Given the description of an element on the screen output the (x, y) to click on. 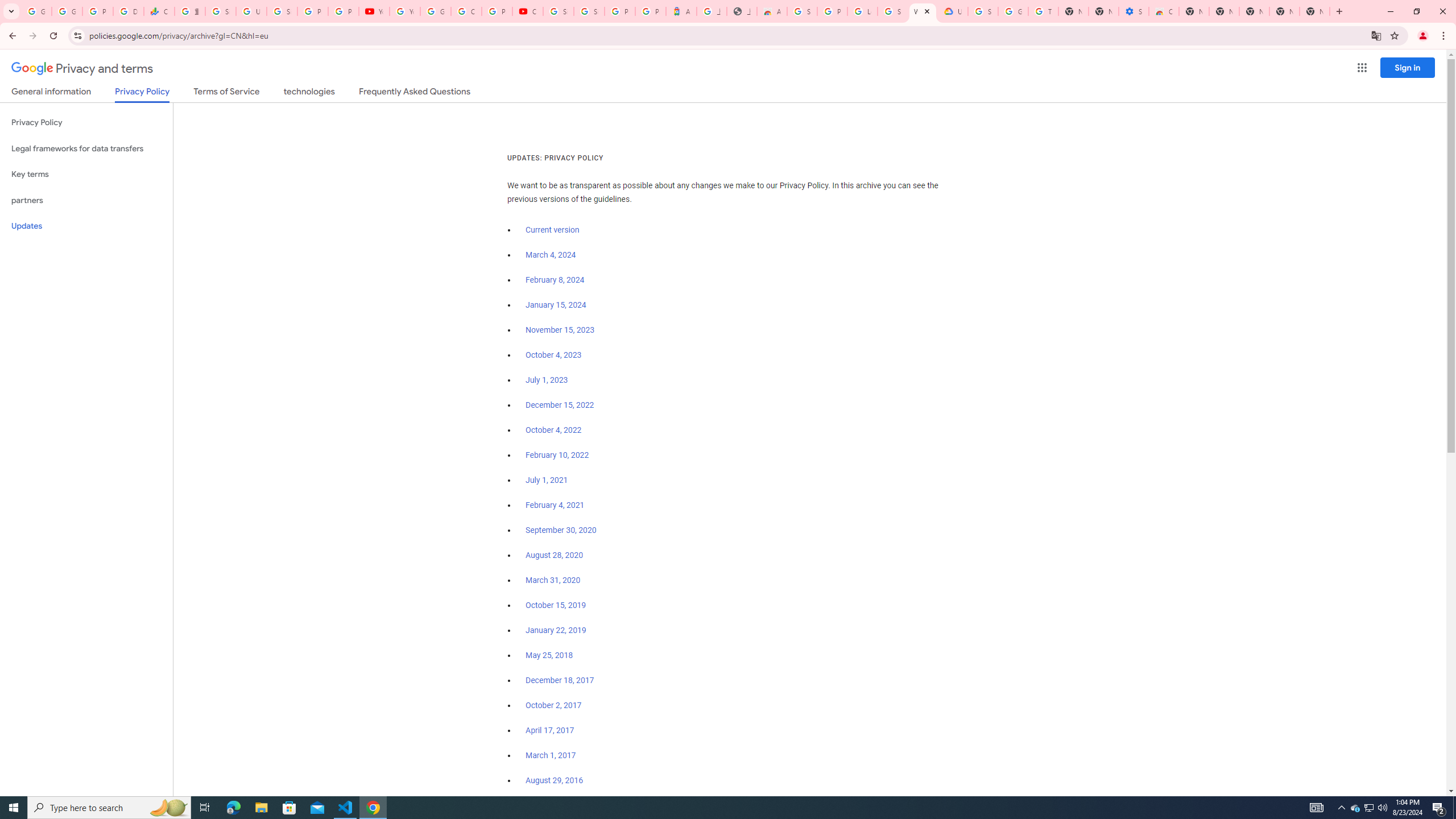
January 15, 2024 (555, 305)
Privacy and terms (81, 68)
October 4, 2022 (553, 430)
Privacy Checkup (343, 11)
Content Creator Programs & Opportunities - YouTube Creators (527, 11)
July 1, 2021 (546, 480)
Sign in - Google Accounts (282, 11)
March 31, 2020 (552, 579)
New Tab (1338, 11)
December 15, 2022 (559, 405)
Frequently Asked Questions (414, 93)
Privacy Policy (86, 122)
